Given the description of an element on the screen output the (x, y) to click on. 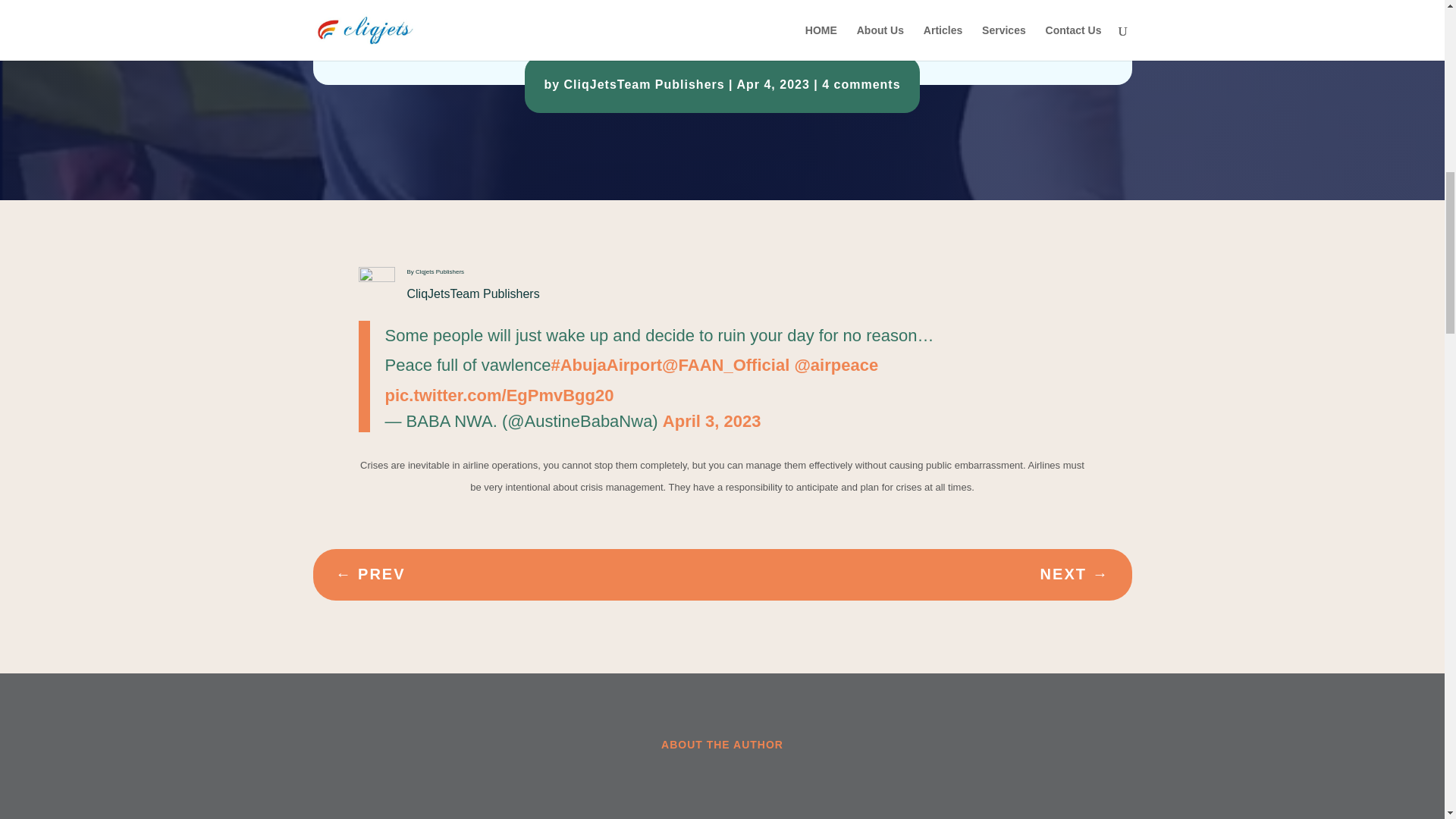
4 comments (860, 83)
Posts by CliqJetsTeam Publishers (644, 83)
ngo-illustration-Artboard 5 (529, 4)
CliqJetsTeam Publishers (644, 83)
April 3, 2023 (711, 420)
